Given the description of an element on the screen output the (x, y) to click on. 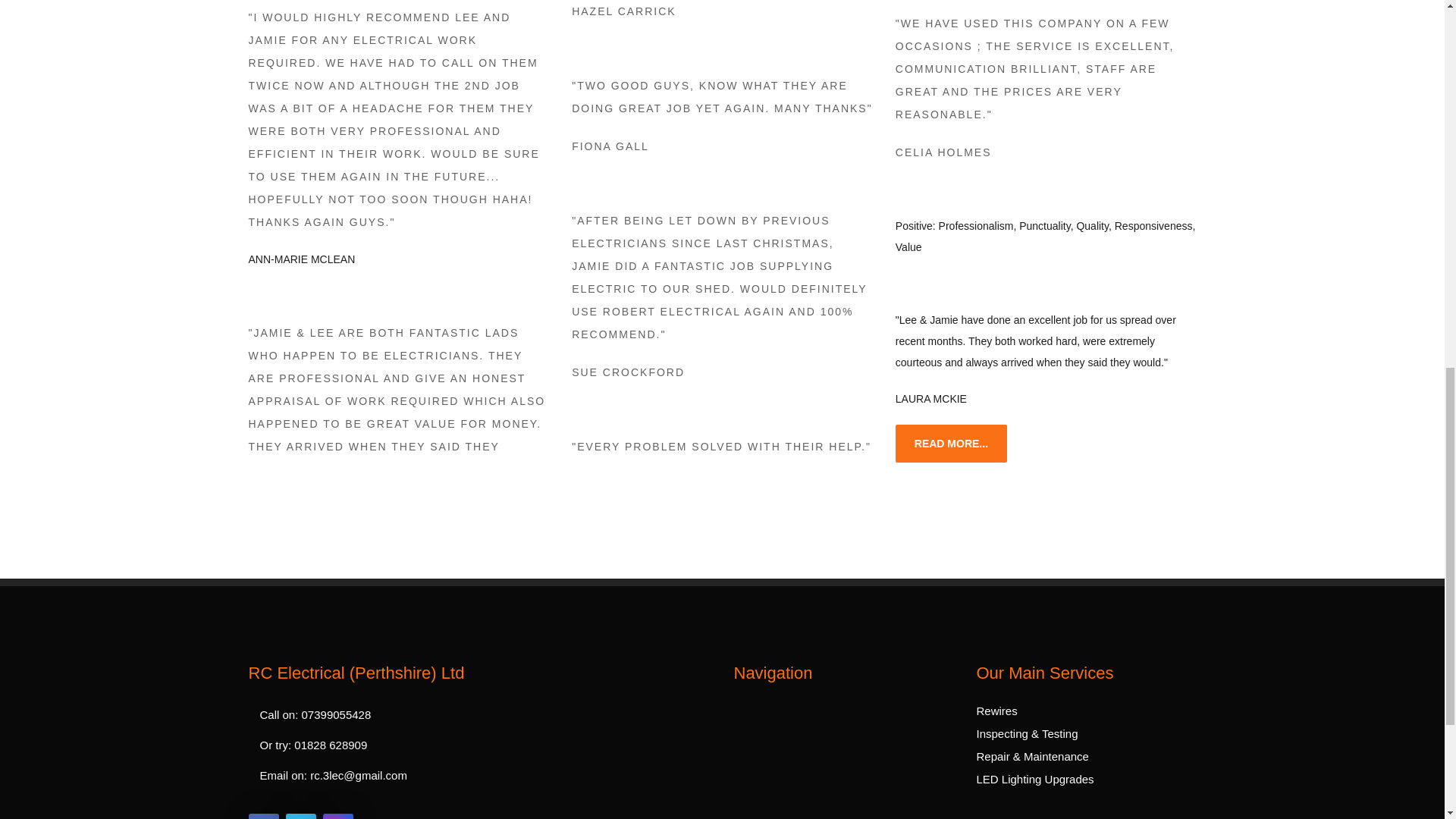
LED Lighting Upgrades (1035, 779)
Rewires (996, 710)
Call on: 07399055428 (468, 715)
Or try: 01828 628909 (468, 745)
READ MORE... (951, 443)
